Given the description of an element on the screen output the (x, y) to click on. 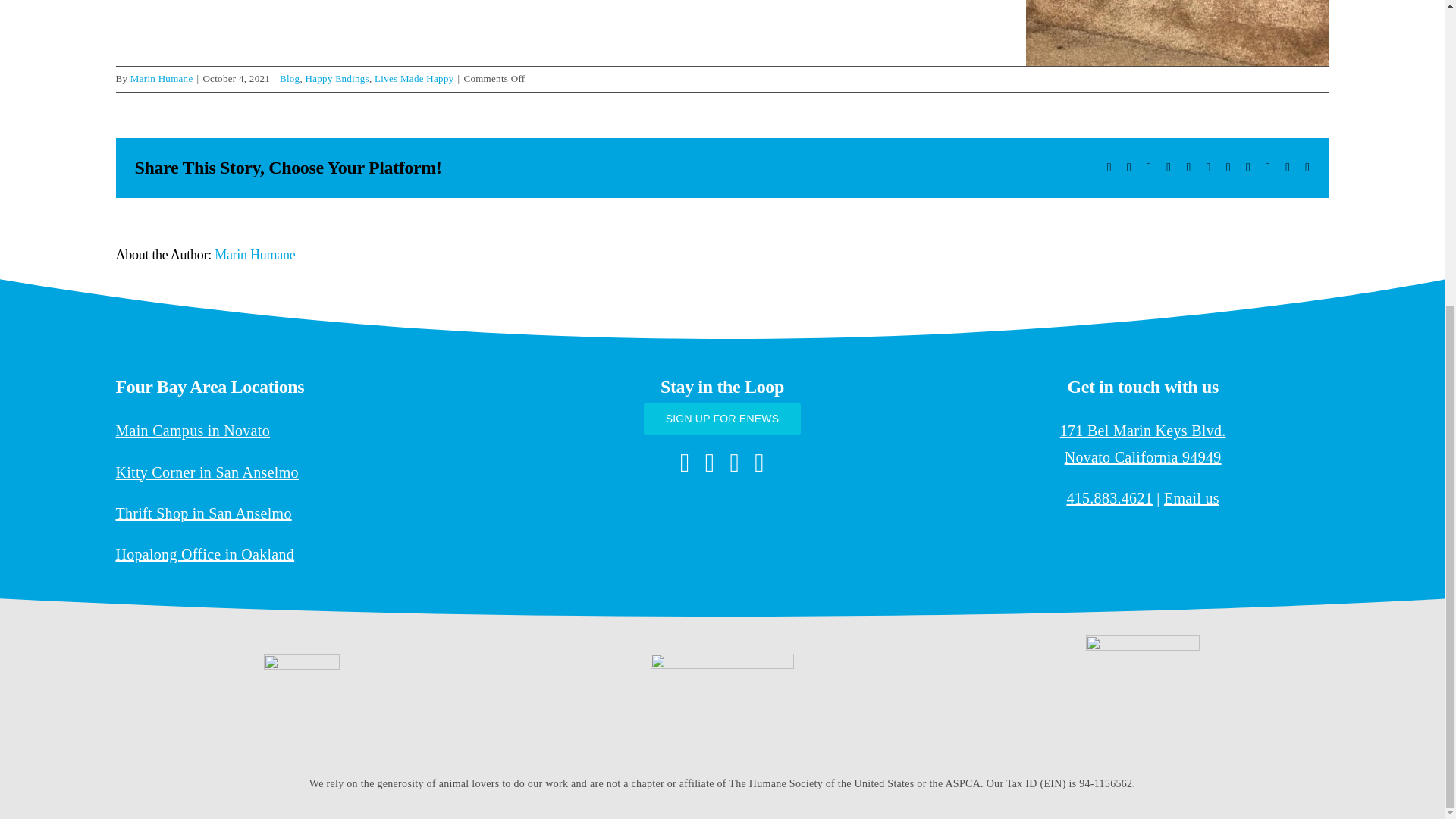
Posts by Marin Humane (162, 78)
Posts by Marin Humane (254, 254)
